Given the description of an element on the screen output the (x, y) to click on. 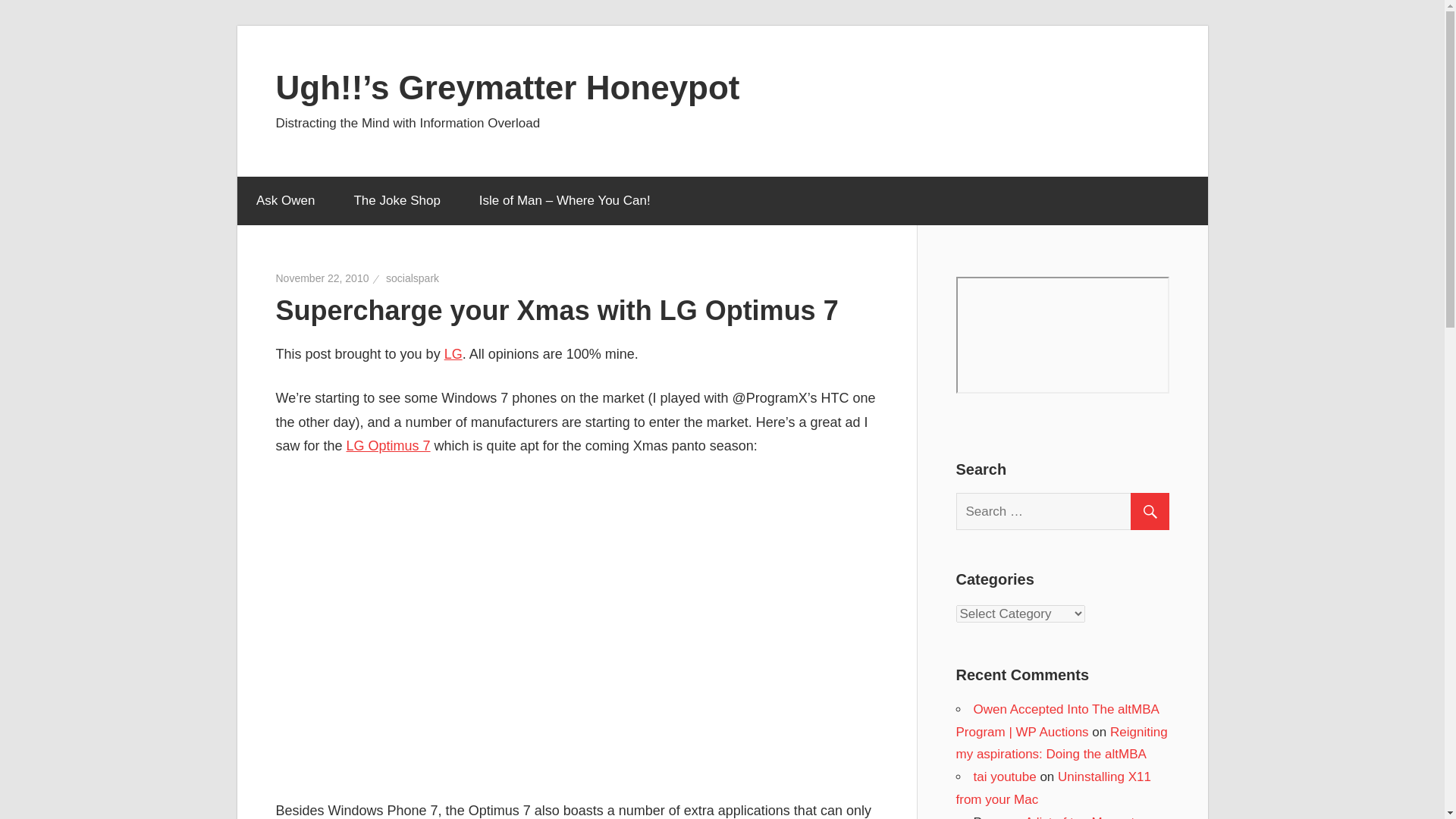
tai youtube (1005, 776)
Reigniting my aspirations: Doing the altMBA (1061, 743)
Ask Owen (284, 200)
A list of top Magento plugins (1048, 816)
socialspark (412, 277)
LG (453, 353)
7:00 am (322, 277)
Uninstalling X11 from your Mac (1052, 787)
Search for: (1068, 511)
LG Optimus 7 (388, 445)
View all posts by socialspark (412, 277)
The Joke Shop (397, 200)
November 22, 2010 (322, 277)
